Given the description of an element on the screen output the (x, y) to click on. 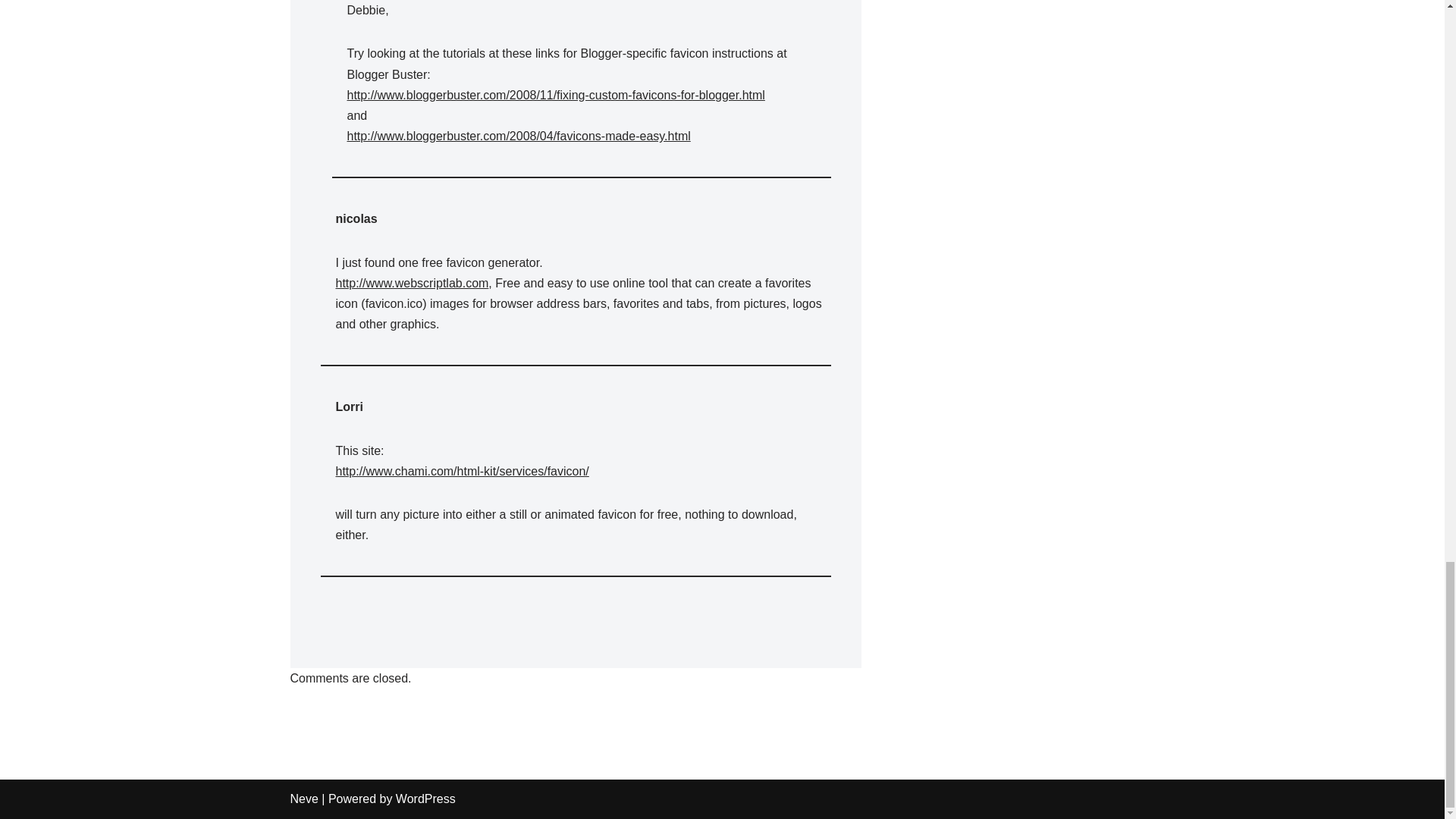
nicolas (355, 218)
